Given the description of an element on the screen output the (x, y) to click on. 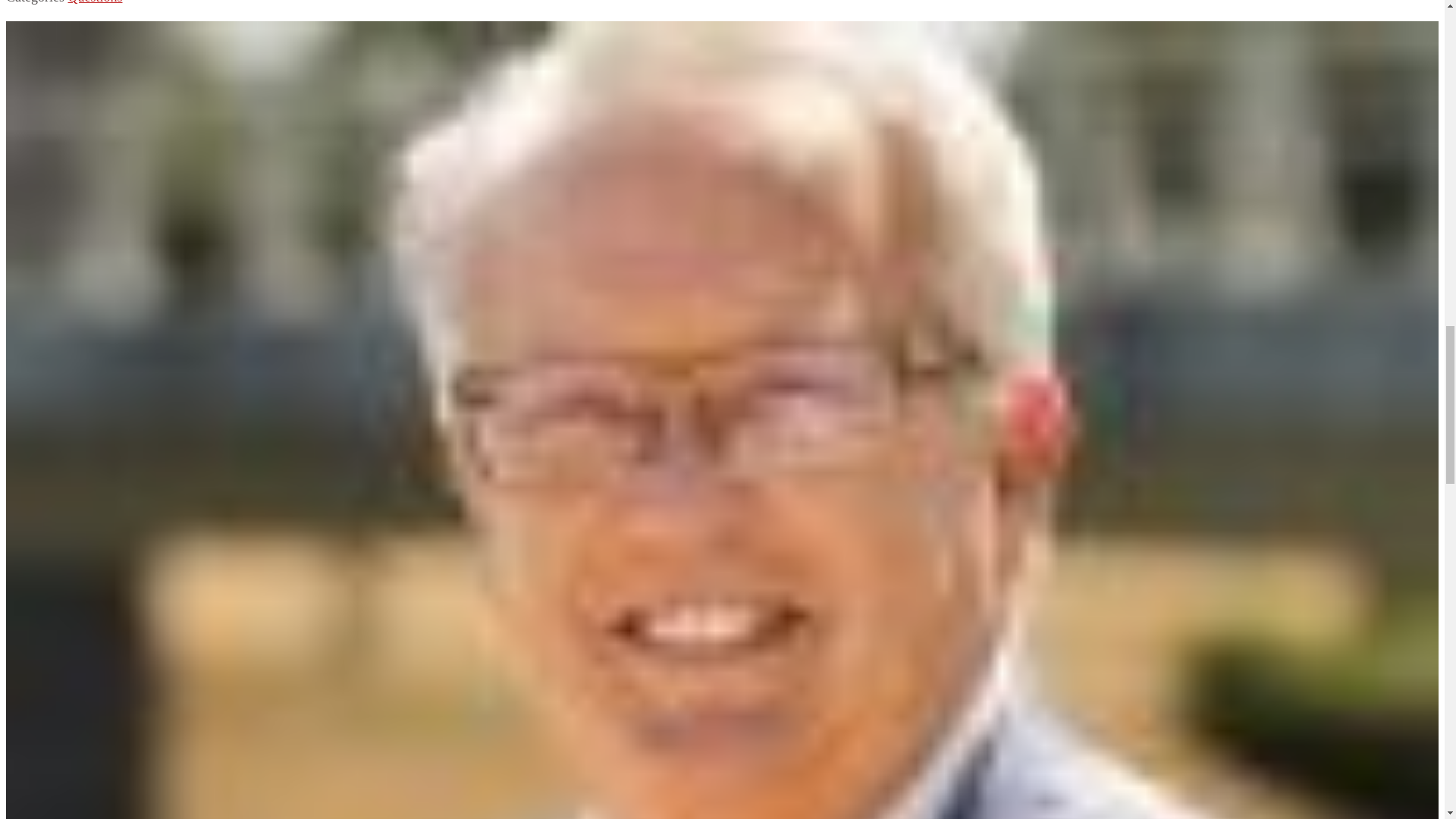
Questions (94, 2)
